Given the description of an element on the screen output the (x, y) to click on. 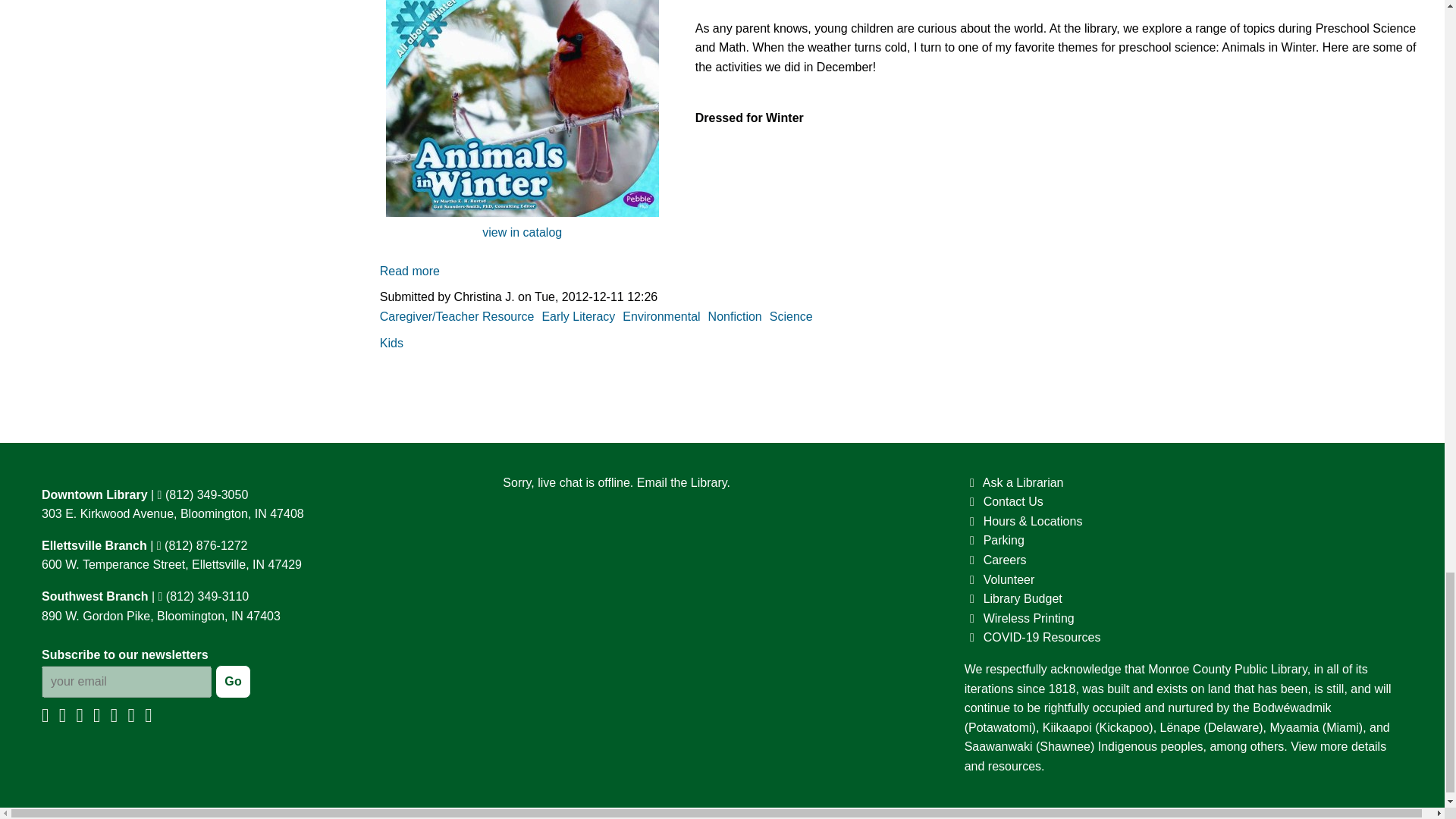
Go (232, 681)
Animals in Winter: Preschool Science and Math (409, 270)
